Given the description of an element on the screen output the (x, y) to click on. 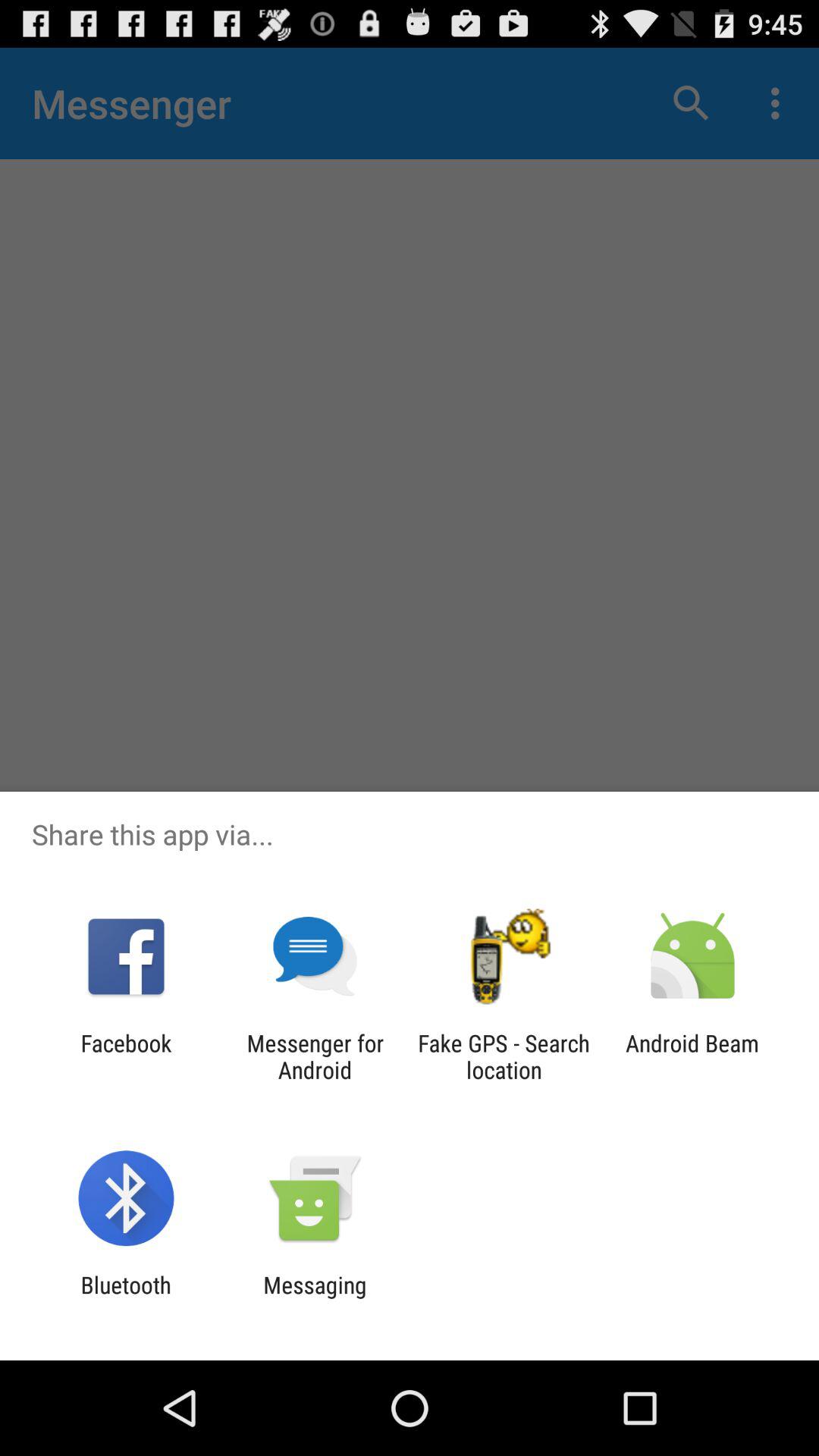
choose the item next to the bluetooth (314, 1298)
